Given the description of an element on the screen output the (x, y) to click on. 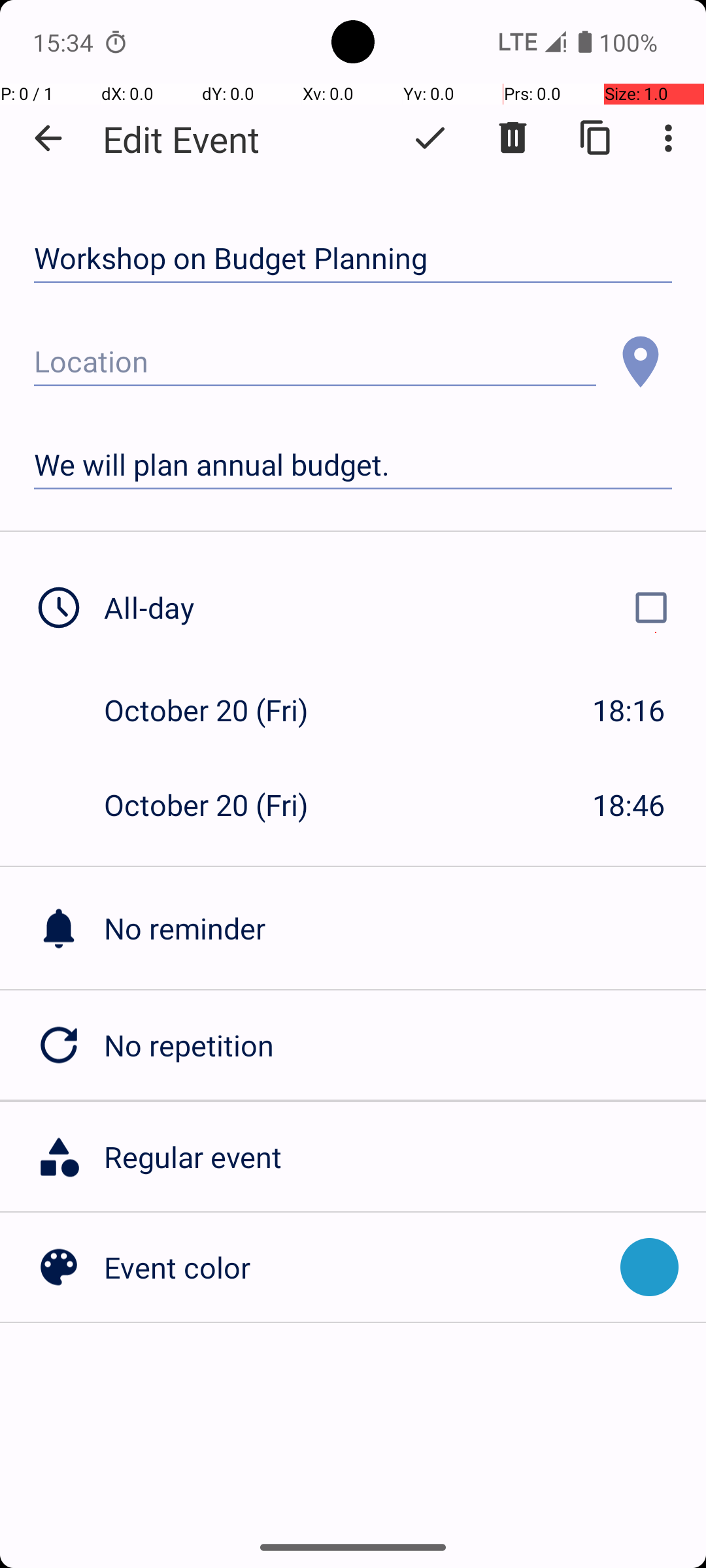
We will plan annual budget. Element type: android.widget.EditText (352, 465)
October 20 (Fri) Element type: android.widget.TextView (219, 709)
18:16 Element type: android.widget.TextView (628, 709)
18:46 Element type: android.widget.TextView (628, 804)
